Given the description of an element on the screen output the (x, y) to click on. 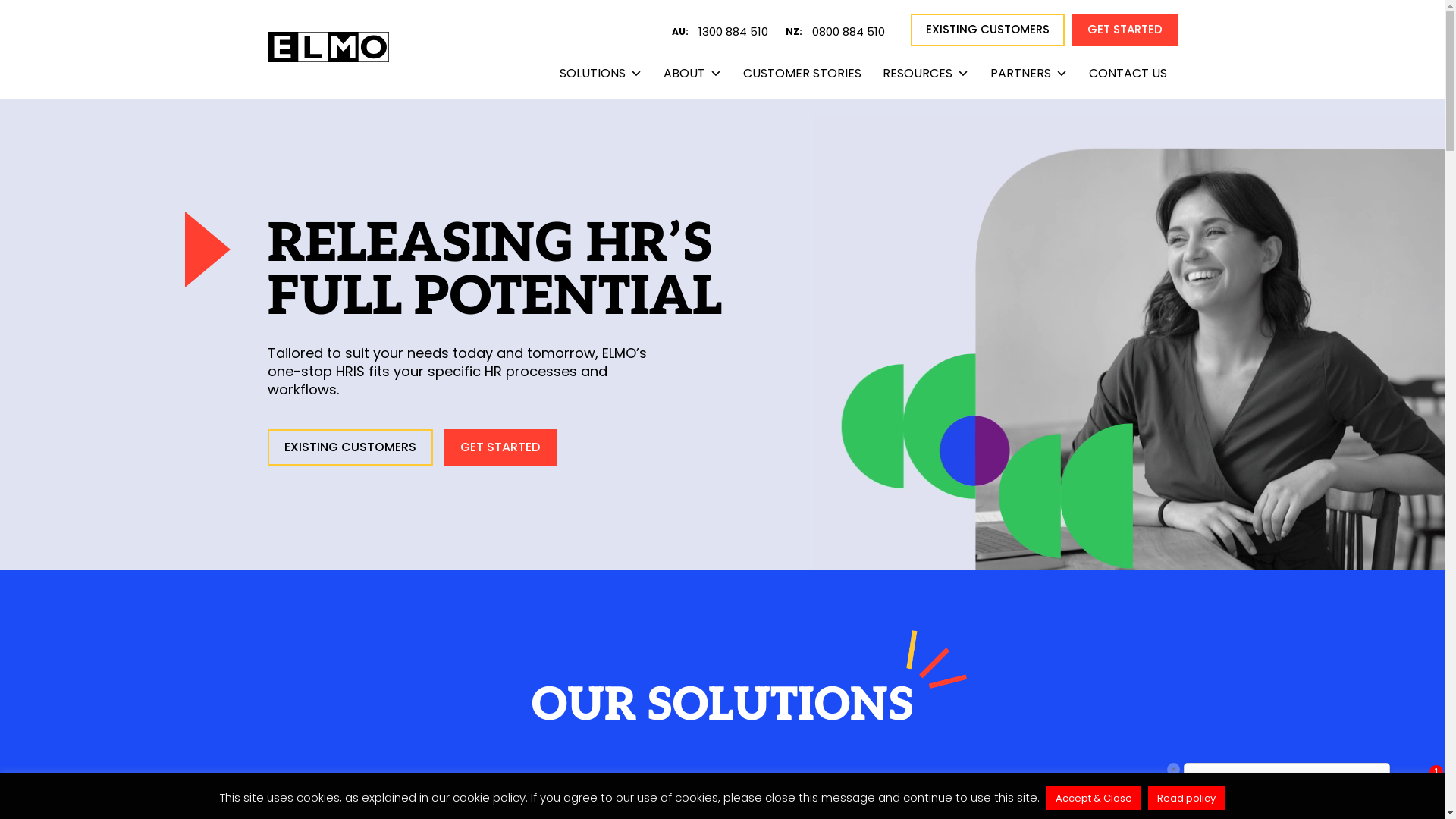
Read policy Element type: text (1186, 797)
ELMO Software Element type: hover (327, 52)
EXISTING CUSTOMERS Element type: text (349, 447)
PARTNERS Element type: text (1028, 72)
NZ: Element type: text (793, 31)
CONTACT US Element type: text (1127, 72)
SOLUTIONS Element type: text (600, 72)
GET STARTED Element type: text (1124, 29)
Accept & Close Element type: text (1093, 797)
0800 884 510 Element type: text (855, 31)
CUSTOMER STORIES Element type: text (802, 72)
ABOUT Element type: text (691, 72)
1300 884 510 Element type: text (739, 31)
GET STARTED Element type: text (498, 447)
EXISTING CUSTOMERS Element type: text (986, 29)
RESOURCES Element type: text (925, 72)
